Given the description of an element on the screen output the (x, y) to click on. 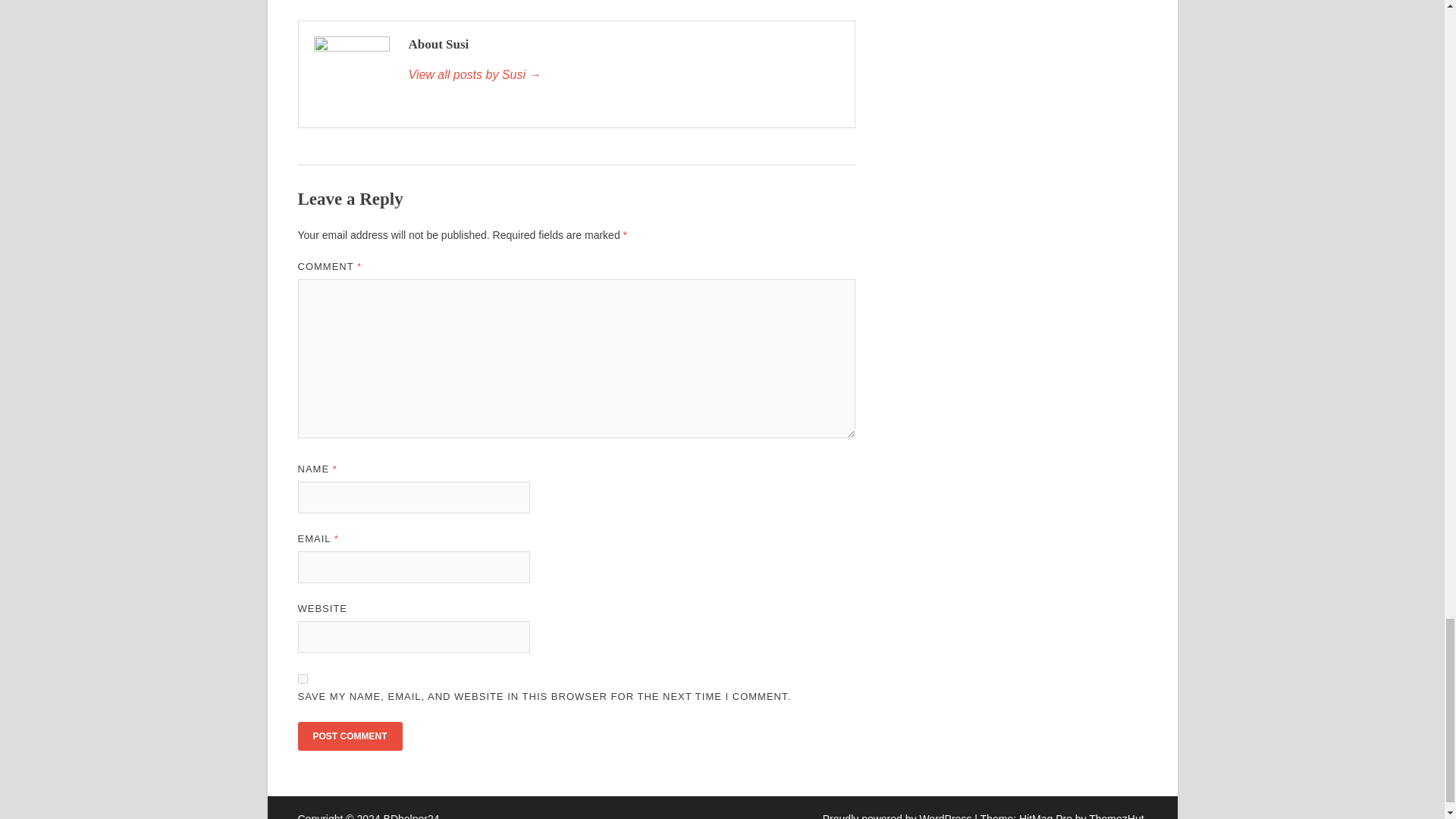
yes (302, 678)
Post Comment (349, 736)
Susi (622, 75)
